Given the description of an element on the screen output the (x, y) to click on. 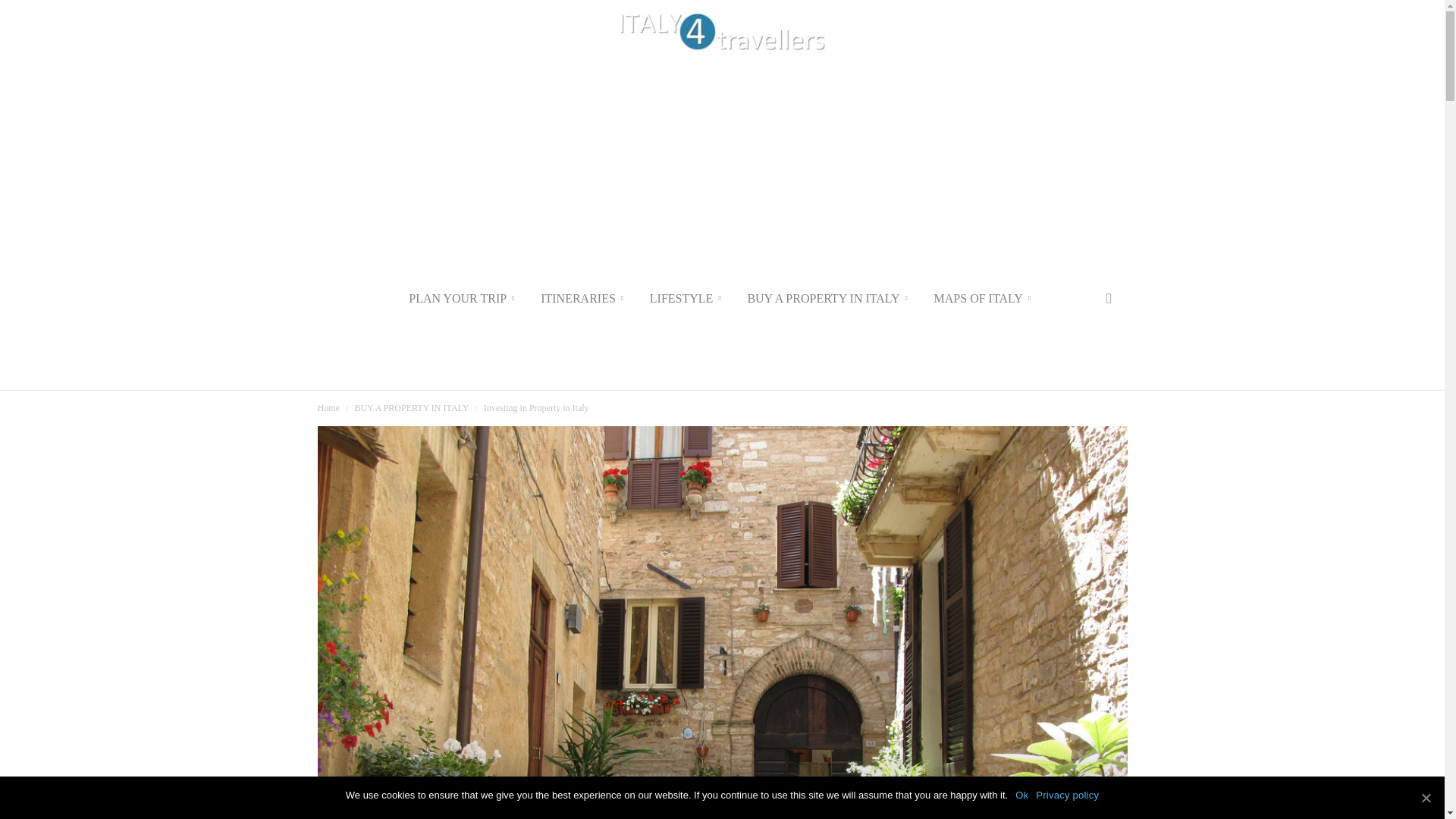
PLAN YOUR TRIP (463, 298)
IT4tr ITALY 4 travellers (721, 33)
ITINERARIES (584, 298)
